Given the description of an element on the screen output the (x, y) to click on. 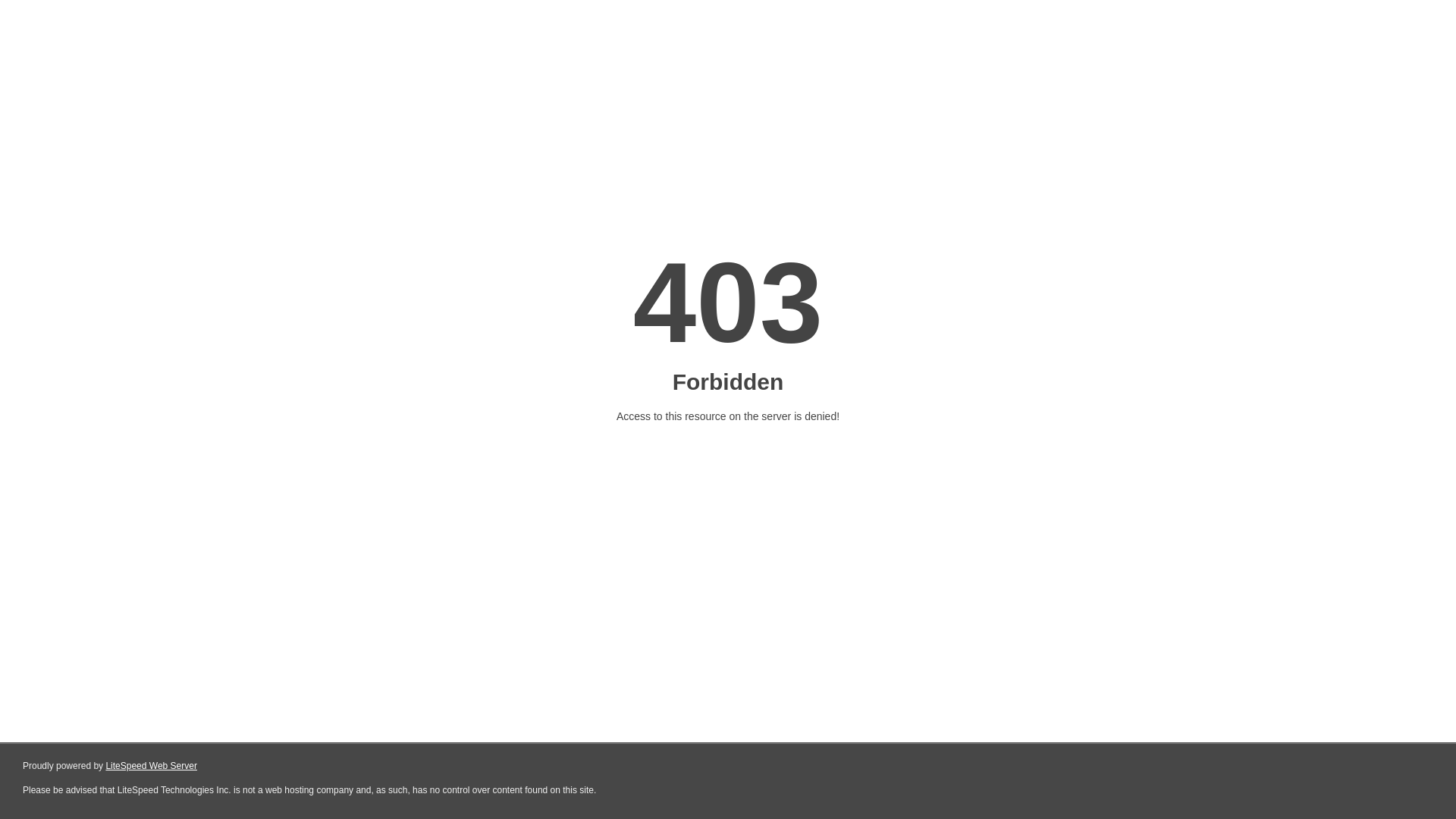
LiteSpeed Web Server Element type: text (151, 765)
